Given the description of an element on the screen output the (x, y) to click on. 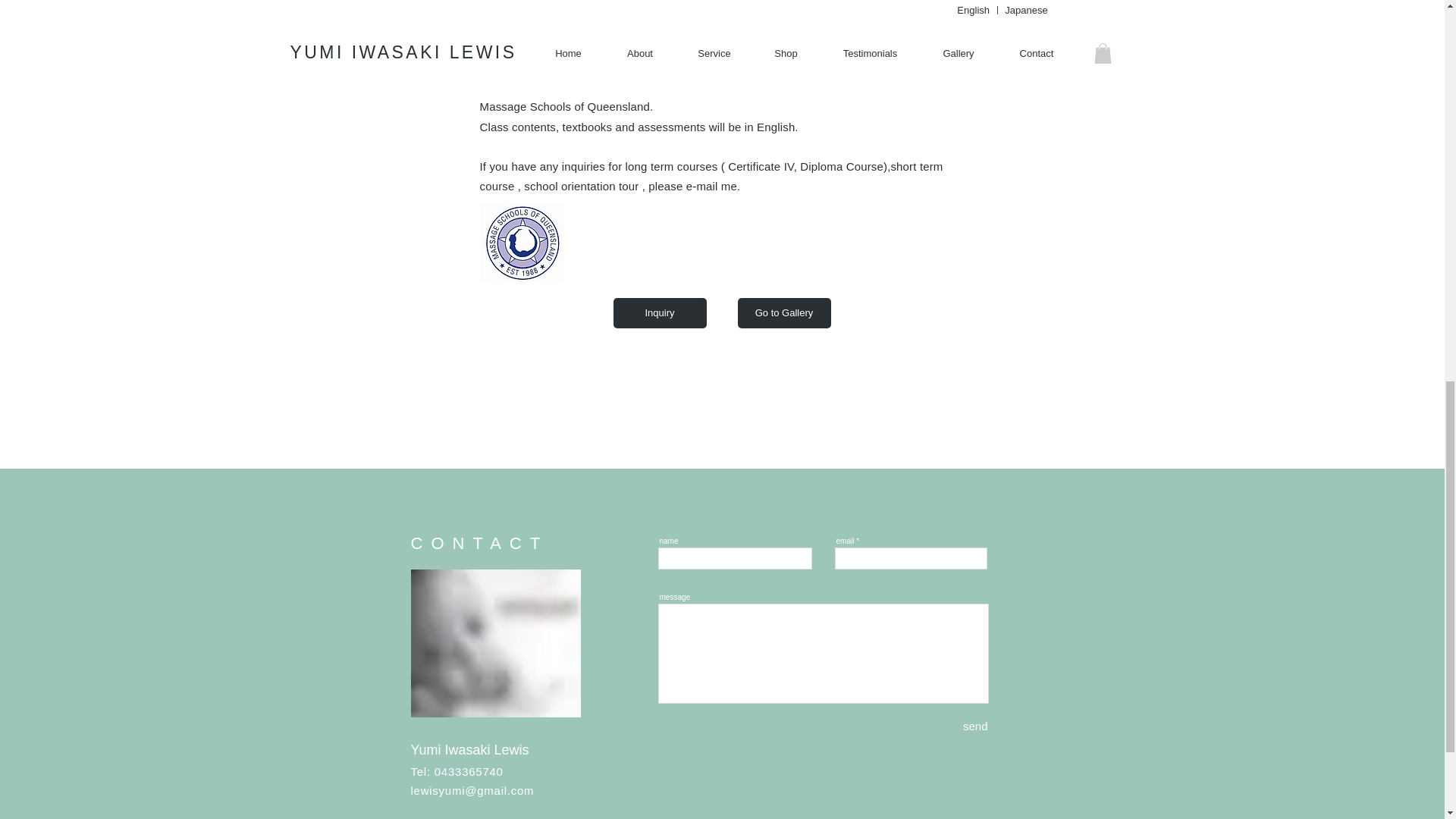
Go to Gallery (782, 313)
send (958, 726)
0433365740 (468, 771)
Inquiry (659, 313)
